Given the description of an element on the screen output the (x, y) to click on. 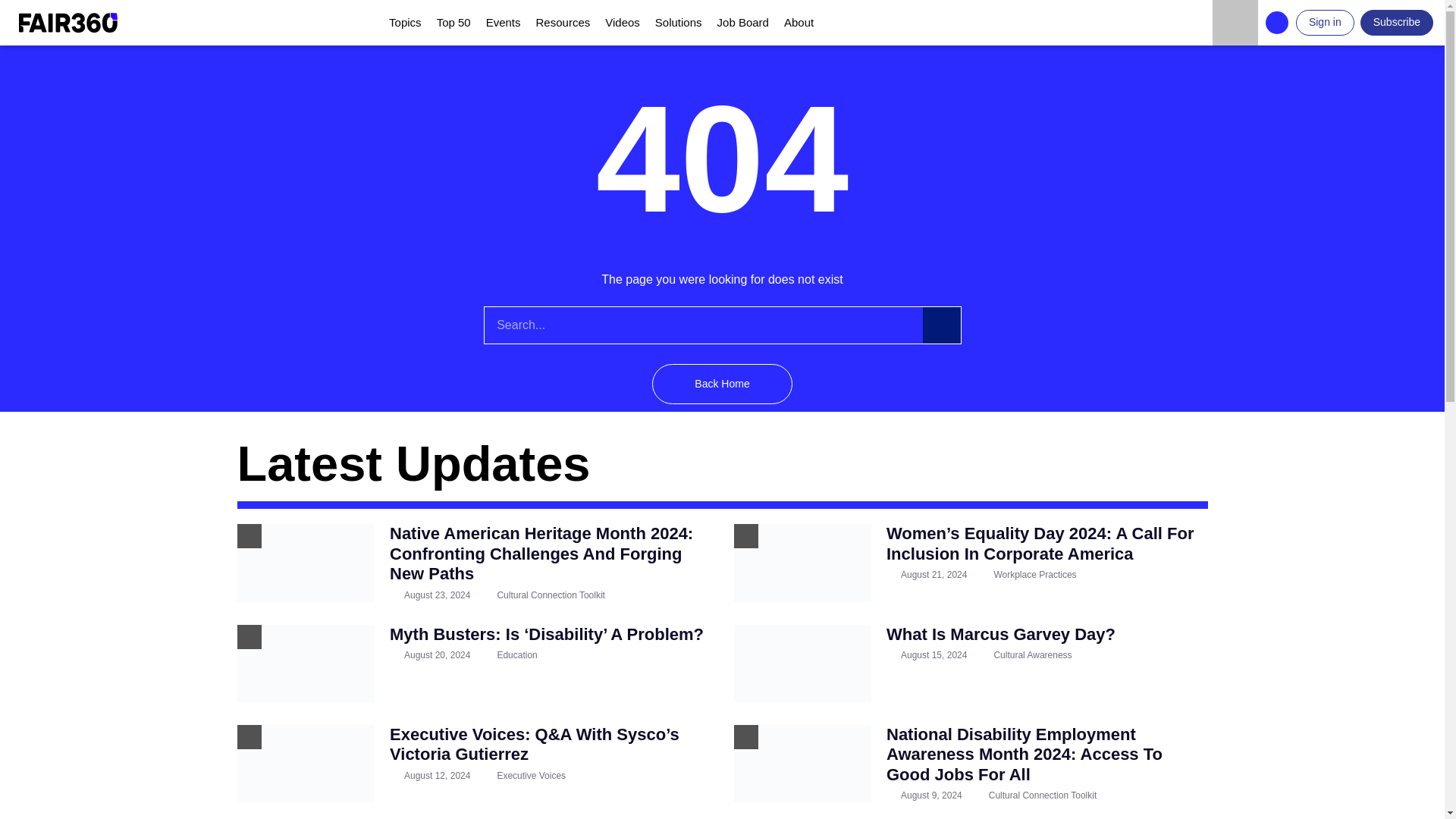
Resources (563, 22)
Top 50 (454, 22)
Topics (405, 22)
Events (503, 22)
Videos (621, 22)
